Given the description of an element on the screen output the (x, y) to click on. 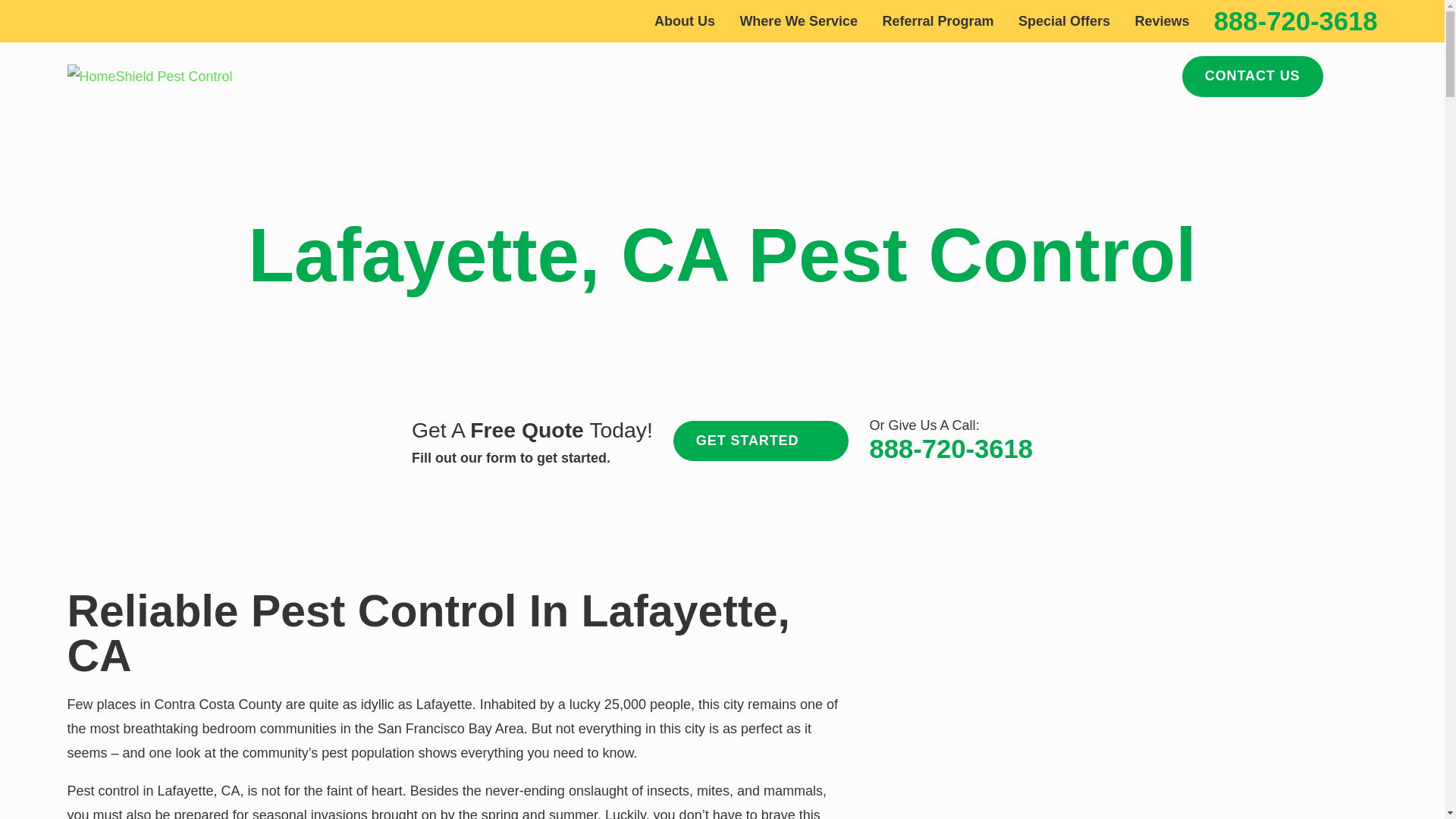
888-720-3618 (1295, 21)
Referral Program (938, 20)
Where We Service (798, 20)
About Us (683, 20)
CONTACT US (1252, 76)
Special Offers (1063, 20)
Home (148, 76)
Reviews (1161, 20)
Main Menu (1362, 76)
